Given the description of an element on the screen output the (x, y) to click on. 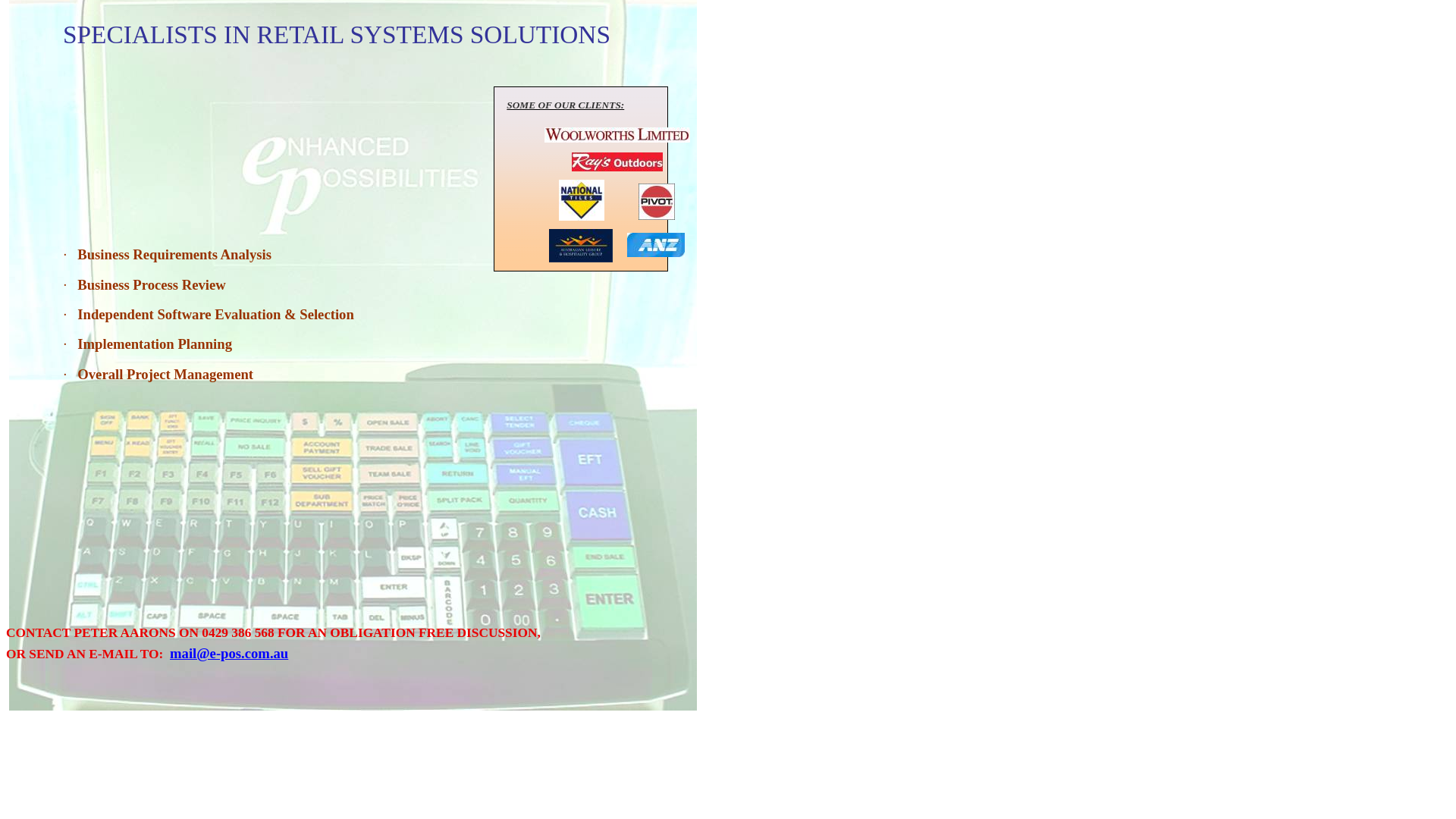
mail@e-pos.com.au Element type: text (228, 653)
